Given the description of an element on the screen output the (x, y) to click on. 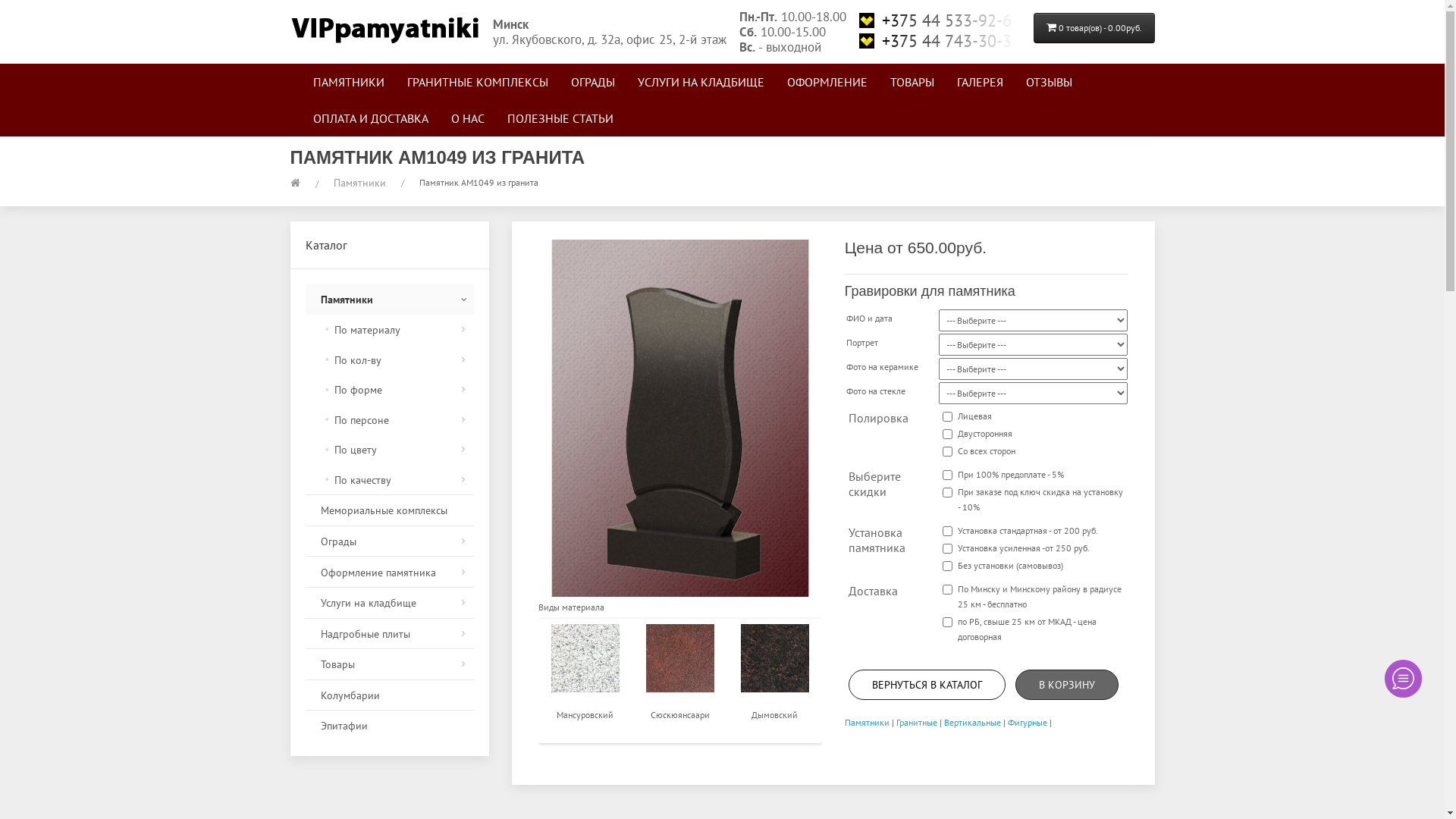
+375 44 533-92-6 Element type: text (938, 20)
+375 44 743-30-3 Element type: text (938, 40)
Vippamyatniki.by Element type: hover (384, 27)
